Given the description of an element on the screen output the (x, y) to click on. 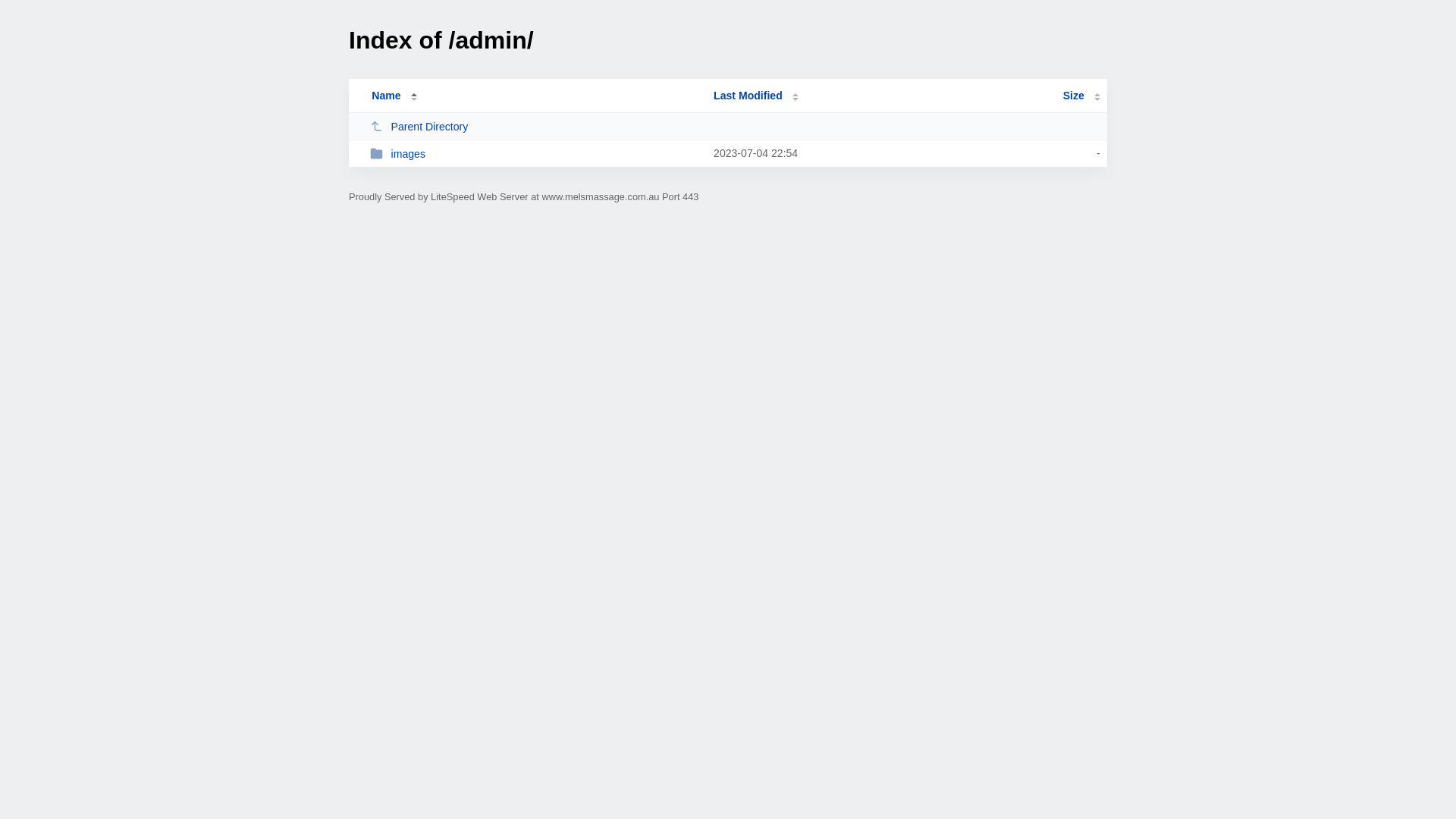
images Element type: text (534, 153)
Name Element type: text (385, 95)
Last Modified Element type: text (755, 95)
Parent Directory Element type: text (534, 125)
Size Element type: text (1081, 95)
